Given the description of an element on the screen output the (x, y) to click on. 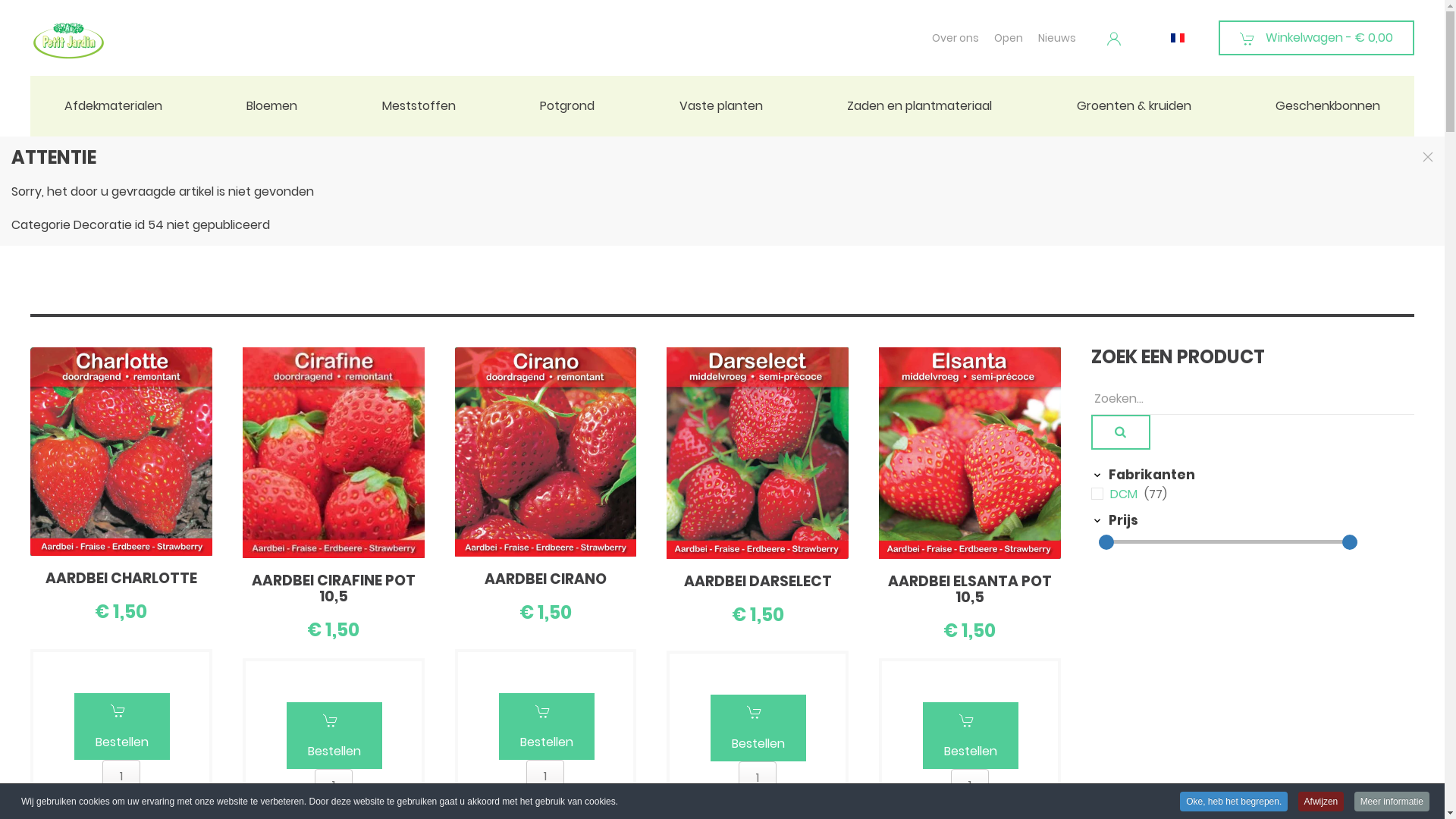
Vaste planten Element type: text (720, 105)
Nieuws Element type: text (1057, 38)
Bestellen Element type: text (121, 742)
Meer informatie Element type: text (1391, 801)
Geschenkbonnen Element type: text (1327, 105)
quantity-minus338(this) Element type: hover (537, 801)
Bestellen Element type: text (757, 743)
Oke, heb het begrepen. Element type: text (1233, 801)
Bestellen Element type: text (758, 727)
quantity-plus338(this) Element type: hover (550, 801)
quantity-minus337(this) Element type: hover (113, 800)
Open Element type: text (1008, 38)
Bloemen Element type: text (271, 105)
Afwijzen Element type: text (1321, 801)
Afdekmaterialen Element type: text (113, 105)
Bestellen Element type: text (545, 742)
Bestellen Element type: text (970, 735)
Groenten & kruiden Element type: text (1133, 105)
Over ons Element type: text (955, 38)
DCM Element type: text (1125, 493)
quantity-minus327(this) Element type: hover (749, 802)
Bestellen Element type: text (333, 751)
Zaden en plantmateriaal Element type: text (919, 105)
Bestellen Element type: text (969, 751)
quantity-plus327(this) Element type: hover (763, 802)
quantity-plus337(this) Element type: hover (126, 800)
Potgrond Element type: text (566, 105)
Bestellen Element type: text (121, 726)
Bestellen Element type: text (546, 726)
Bestellen Element type: text (334, 735)
Meststoffen Element type: text (418, 105)
